Given the description of an element on the screen output the (x, y) to click on. 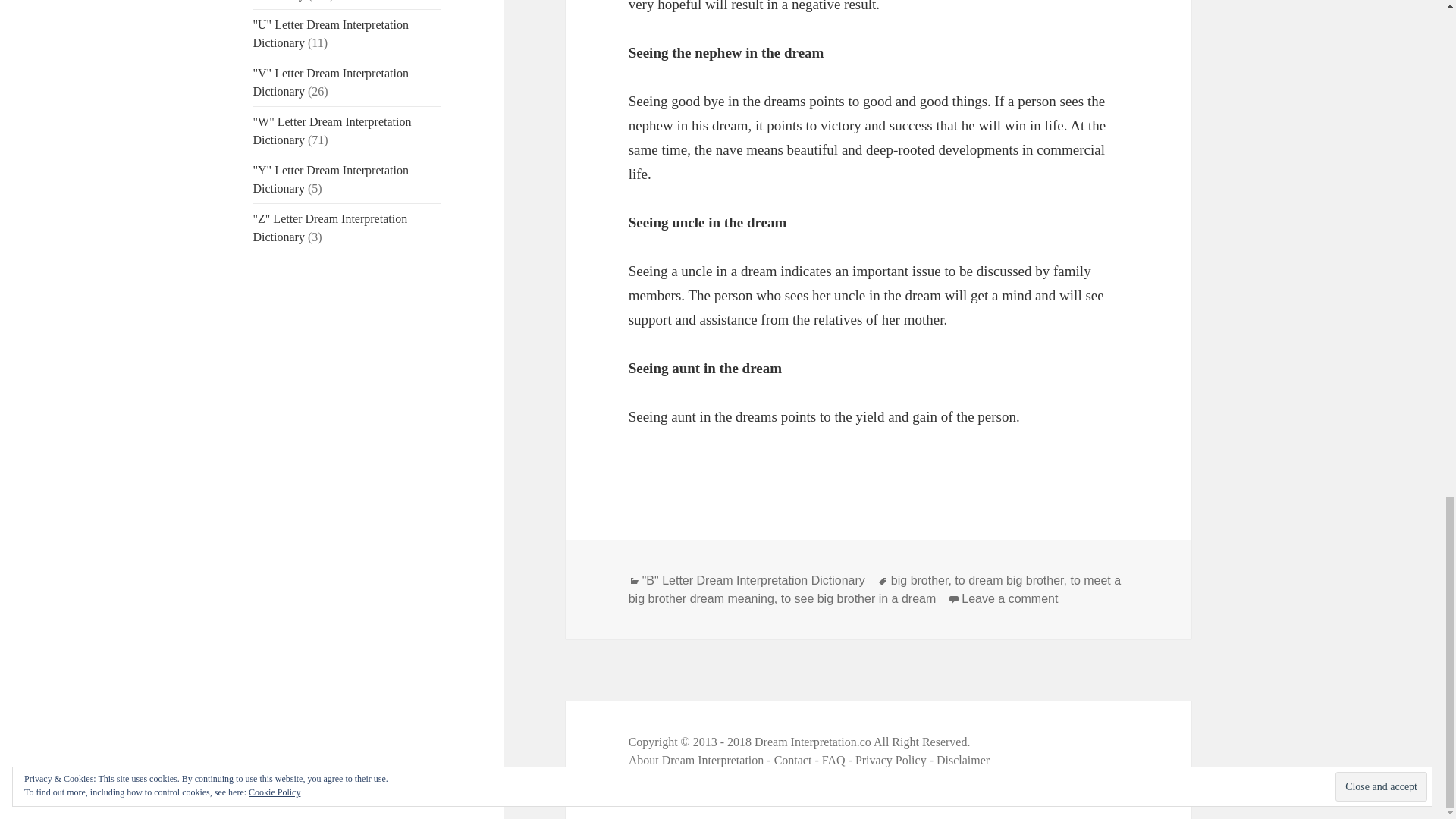
"Z" Letter Dream Interpretation Dictionary (330, 227)
"V" Letter Dream Interpretation Dictionary (331, 81)
to meet a big brother dream meaning (874, 590)
"Y" Letter Dream Interpretation Dictionary (331, 178)
"U" Letter Dream Interpretation Dictionary (1009, 599)
to dream big brother (331, 33)
"B" Letter Dream Interpretation Dictionary (1008, 581)
"W" Letter Dream Interpretation Dictionary (753, 581)
"T" Letter Dream Interpretation Dictionary (332, 130)
to see big brother in a dream (920, 581)
Dream Interpretation (858, 599)
